Given the description of an element on the screen output the (x, y) to click on. 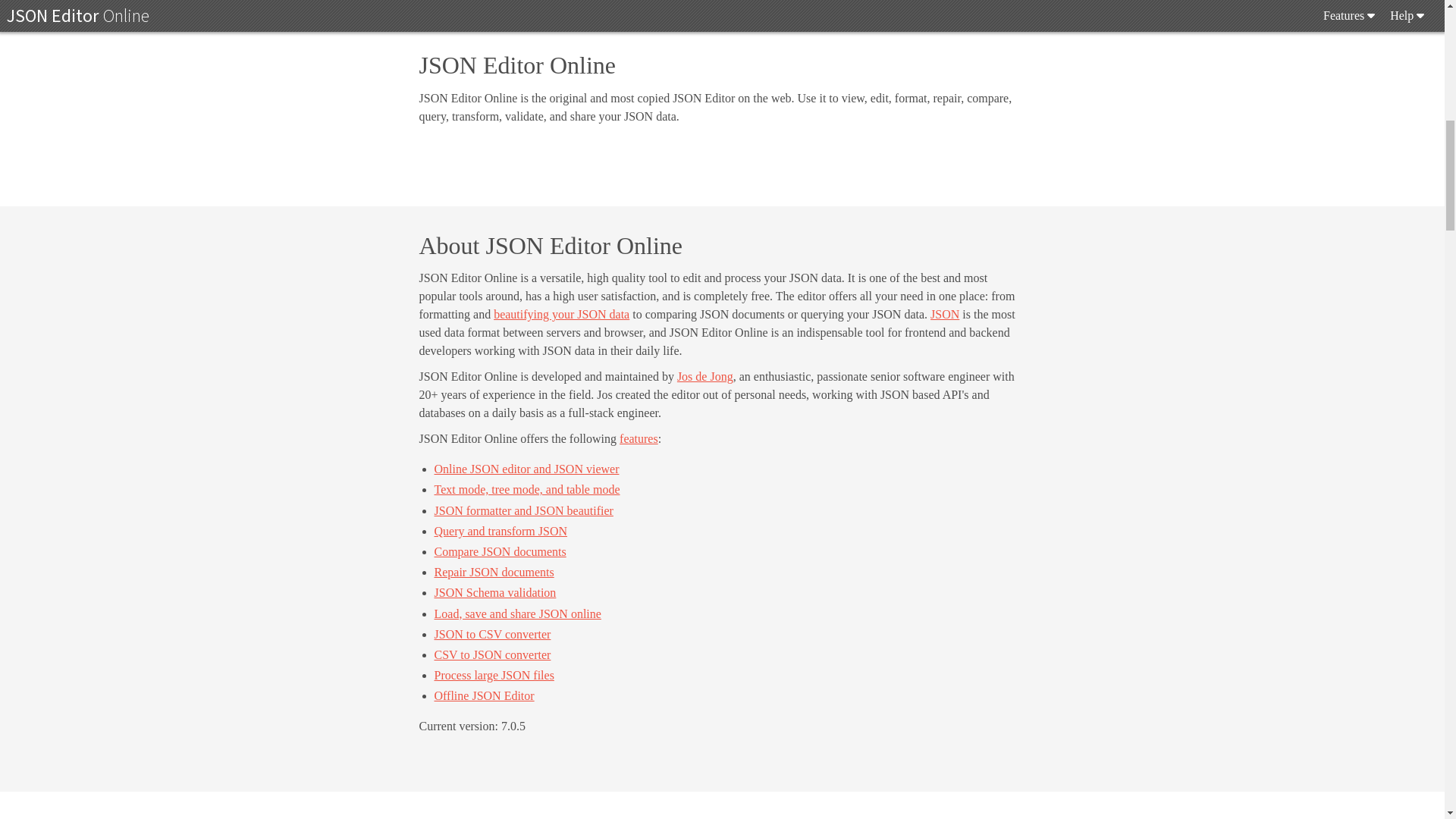
JSON (944, 314)
Offline JSON Editor (483, 695)
Compare JSON documents (499, 551)
Load, save and share JSON online (516, 612)
Query and transform JSON (500, 530)
Text mode, tree mode, and table mode (526, 489)
features (639, 438)
Process large JSON files (493, 675)
JSON Schema validation (494, 592)
Repair JSON documents (493, 571)
JSON to CSV converter (491, 634)
JSON formatter and JSON beautifier (522, 510)
Jos de Jong (705, 376)
Online JSON editor and JSON viewer (525, 468)
CSV to JSON converter (491, 654)
